Given the description of an element on the screen output the (x, y) to click on. 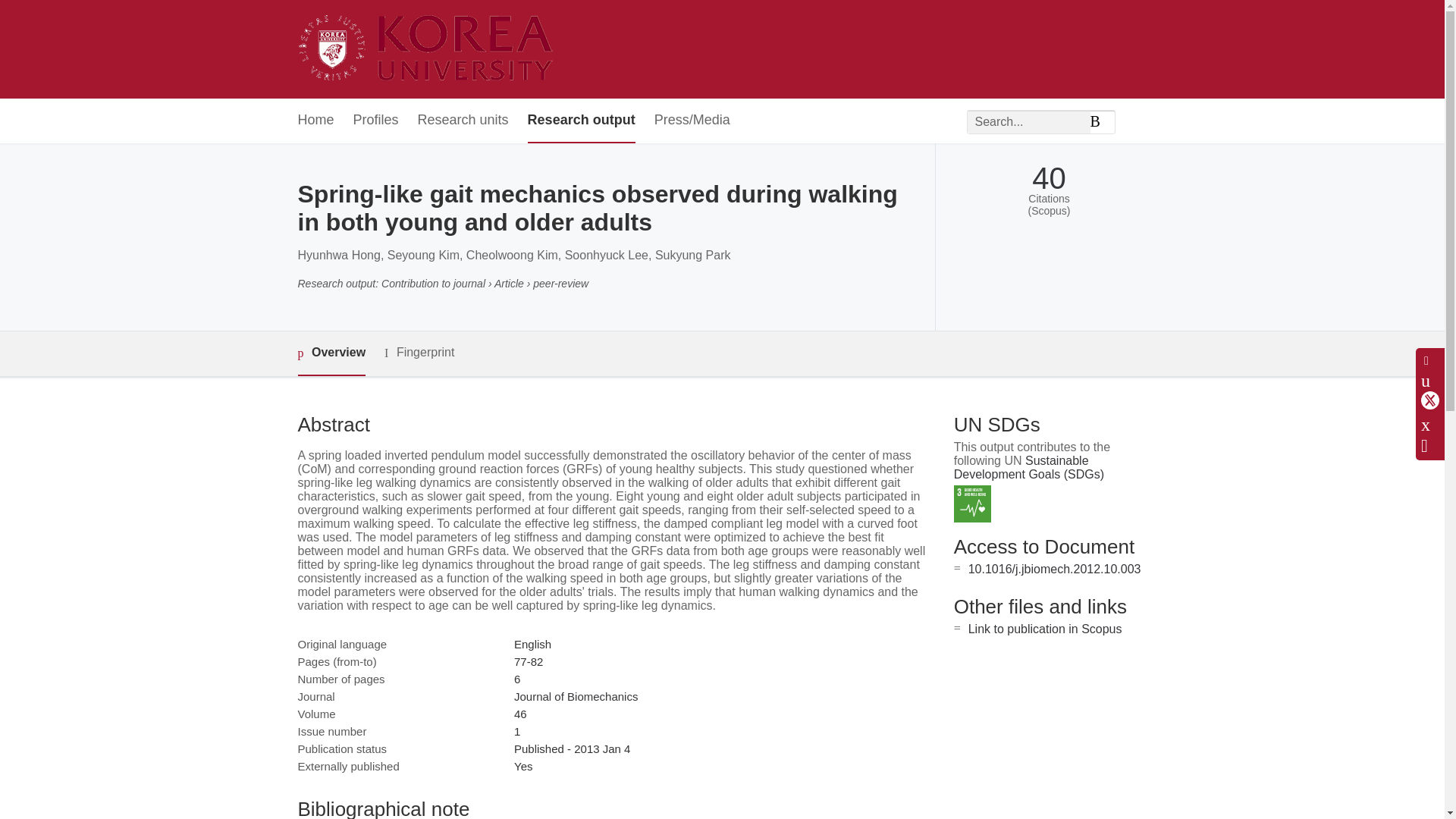
Fingerprint (419, 352)
Link to publication in Scopus (1045, 628)
40 (1048, 178)
Research output (580, 120)
Journal of Biomechanics (575, 696)
SDG 3 - Good Health and Well-being (972, 503)
Profiles (375, 120)
Overview (331, 353)
Korea University Home (429, 49)
